Given the description of an element on the screen output the (x, y) to click on. 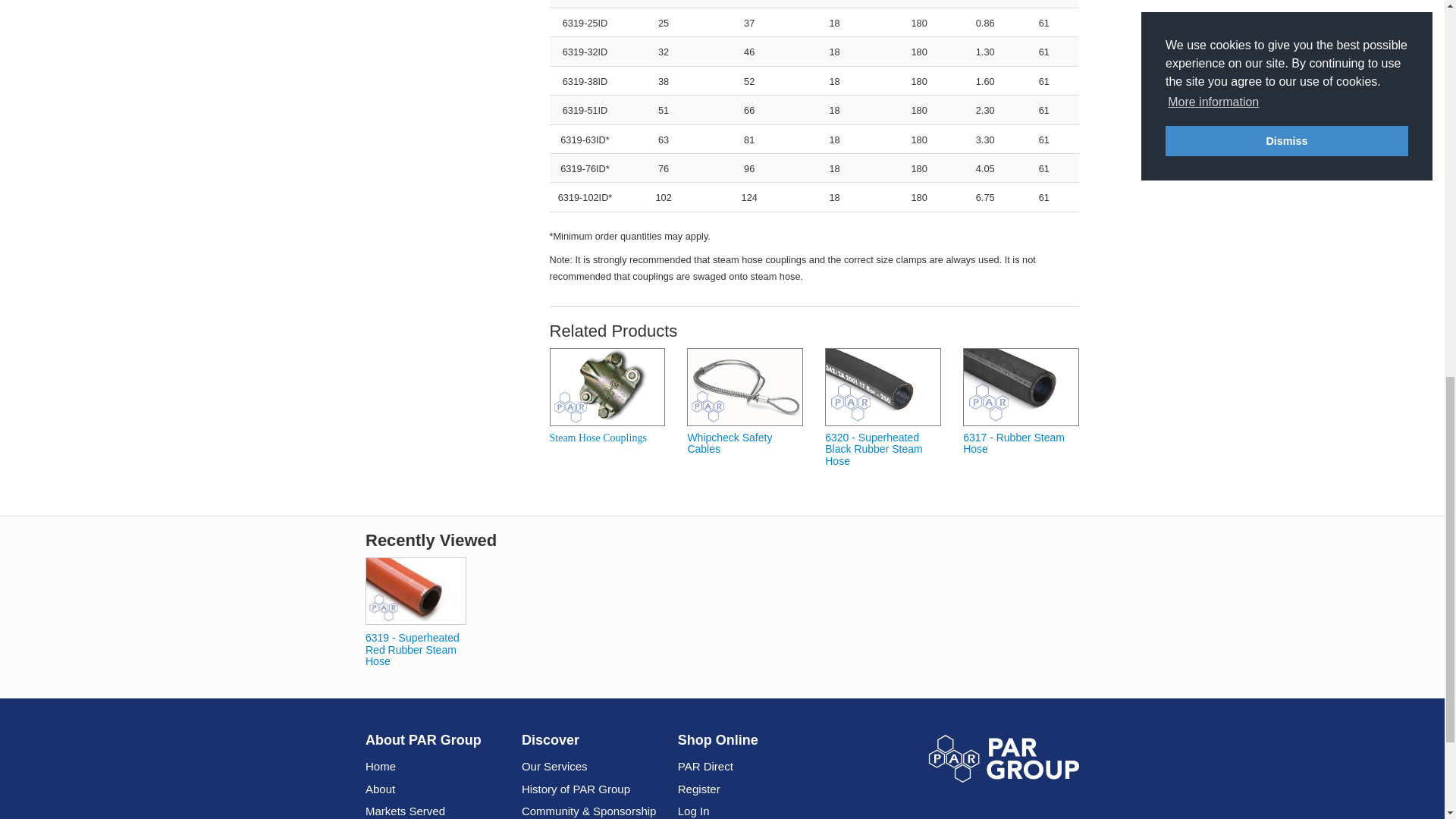
6319 - Superheated Red Rubber Steam Hose (415, 590)
6320 - Superheated Black Rubber Steam Hose (882, 386)
6317 - Rubber Steam Hose (1020, 386)
Steam Hose Couplings (606, 386)
Whipcheck Safety Cables (745, 386)
